Given the description of an element on the screen output the (x, y) to click on. 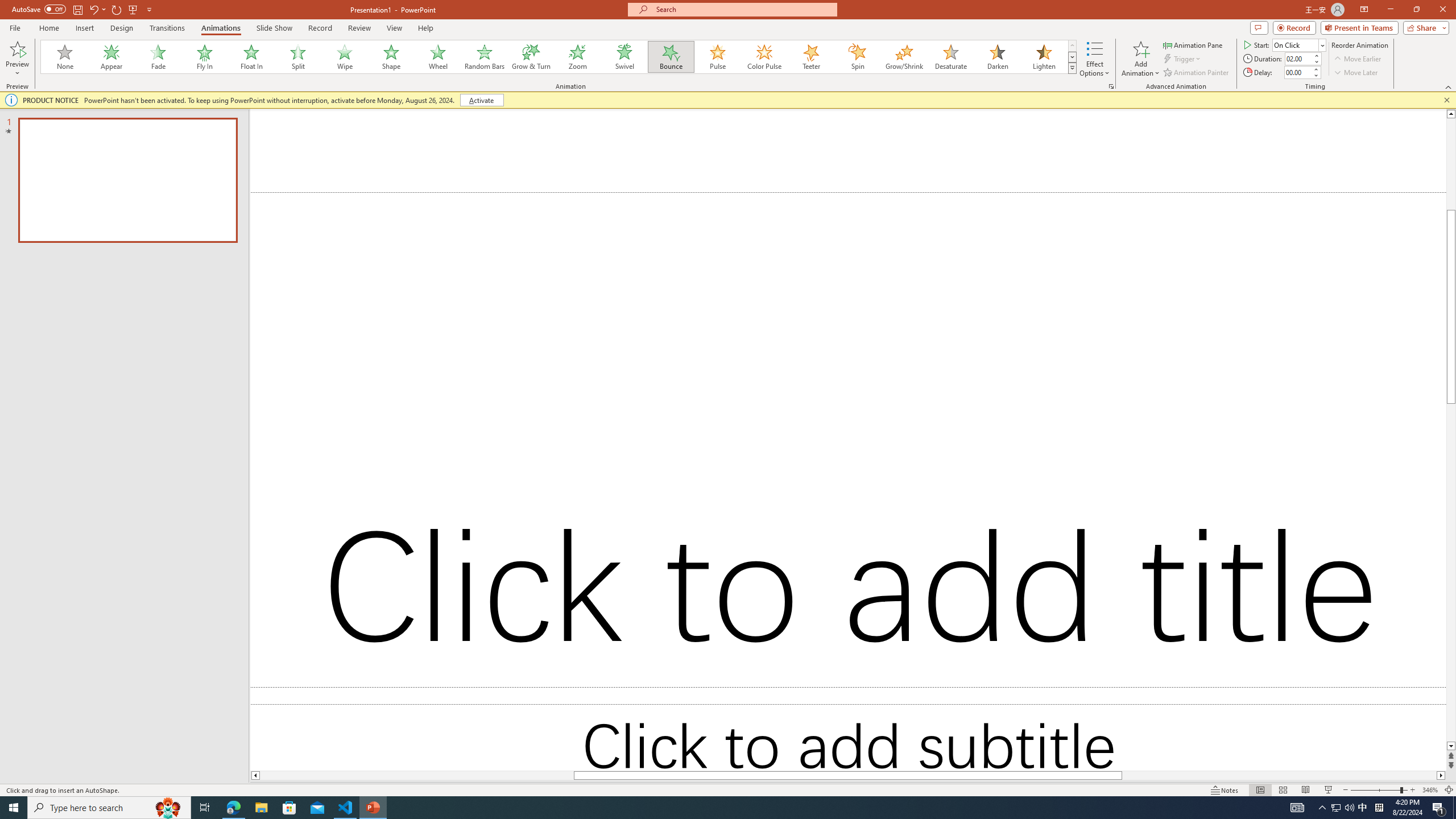
Design (122, 28)
Float In (251, 56)
AutoSave (38, 9)
Animations (220, 28)
Pulse (717, 56)
Class: NetUIImage (1072, 68)
File Tab (15, 27)
System (6, 6)
Swivel (624, 56)
Open (1321, 44)
Fade (158, 56)
Zoom to Fit  (1449, 790)
Lighten (1043, 56)
Move Later (1355, 72)
